Given the description of an element on the screen output the (x, y) to click on. 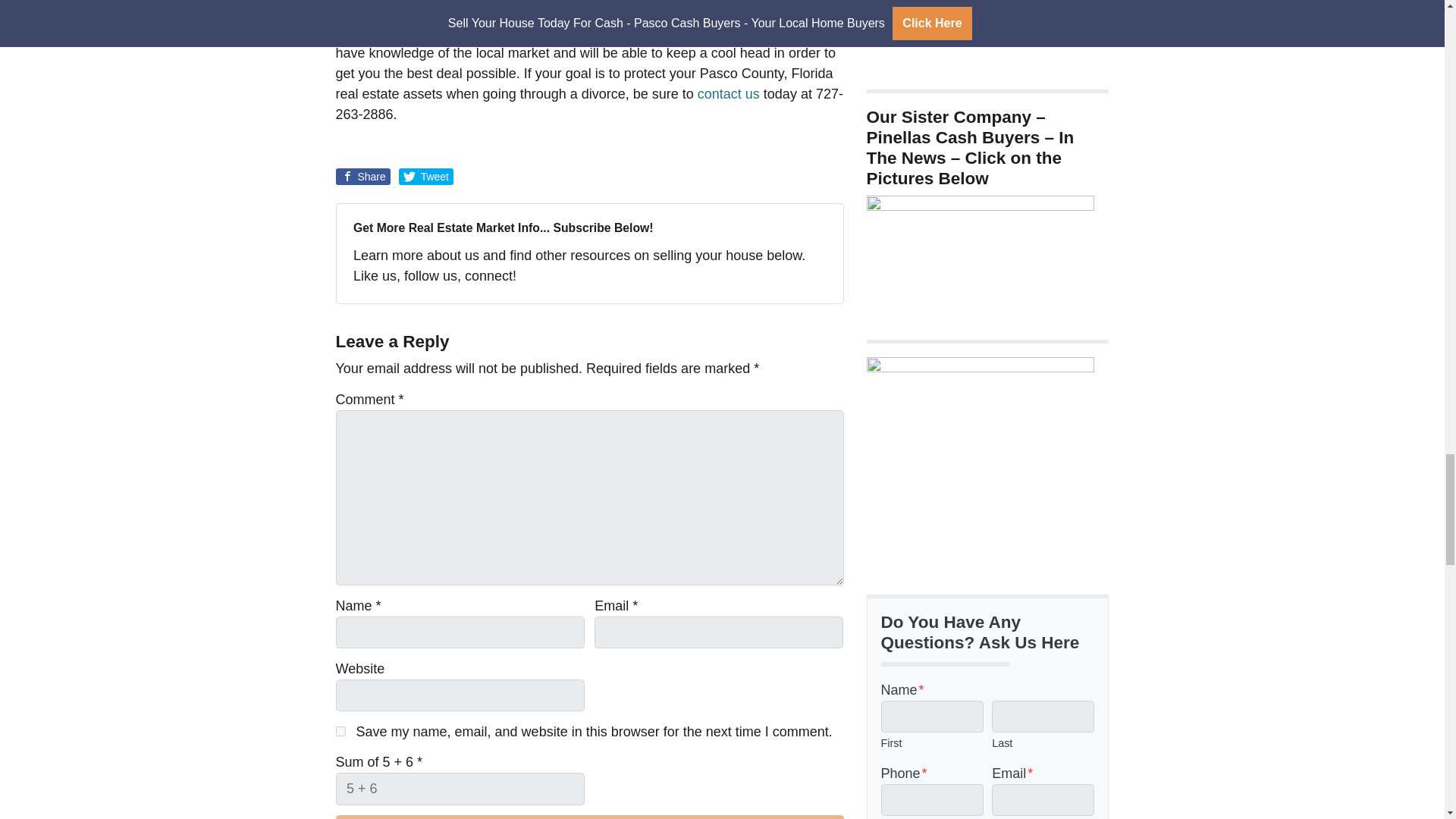
yes (339, 731)
Share (362, 176)
Tweet (425, 176)
contact us (728, 93)
Share on Twitter (425, 176)
Share on Facebook (362, 176)
